Given the description of an element on the screen output the (x, y) to click on. 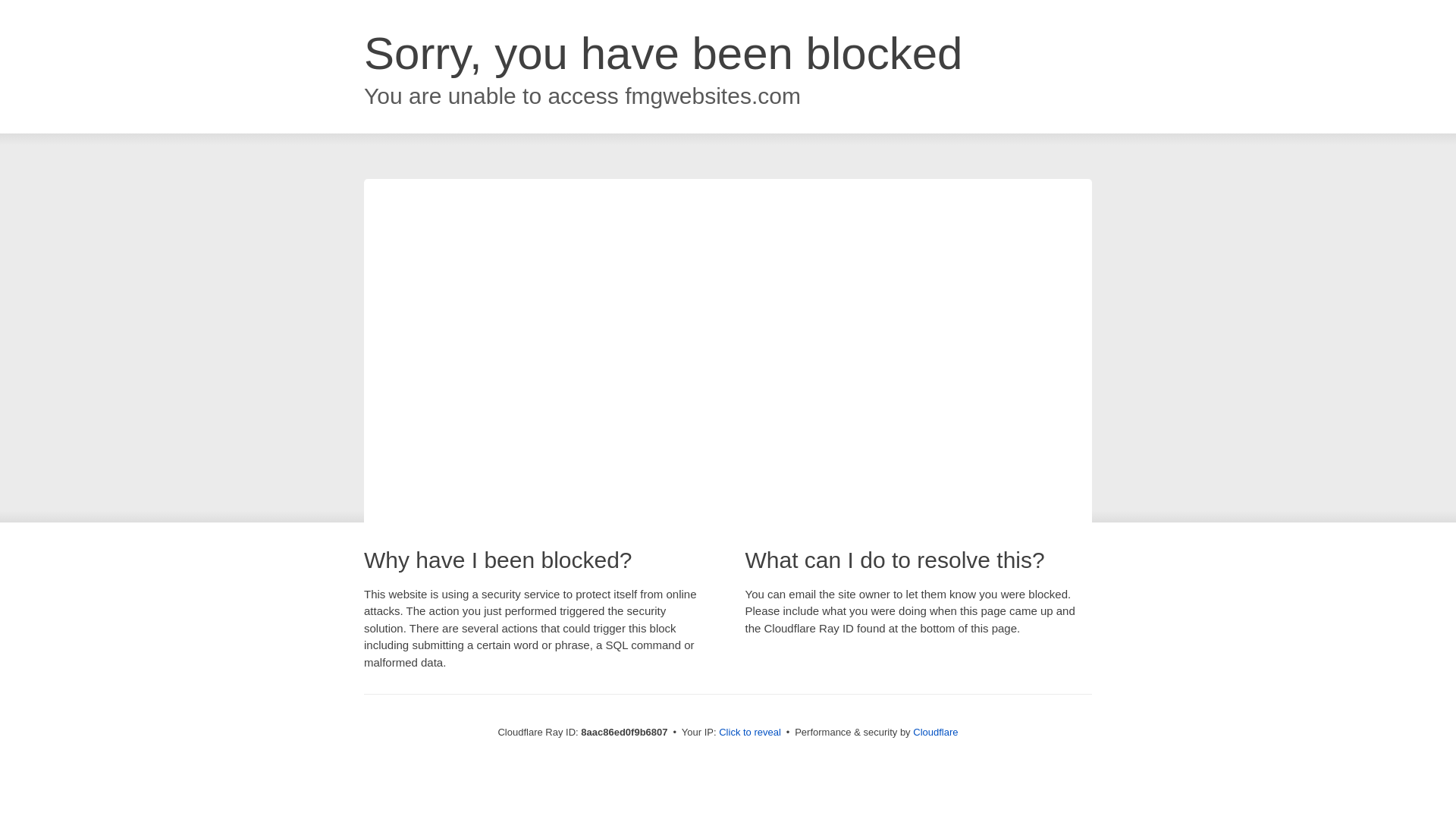
Cloudflare (935, 731)
Click to reveal (749, 732)
